Given the description of an element on the screen output the (x, y) to click on. 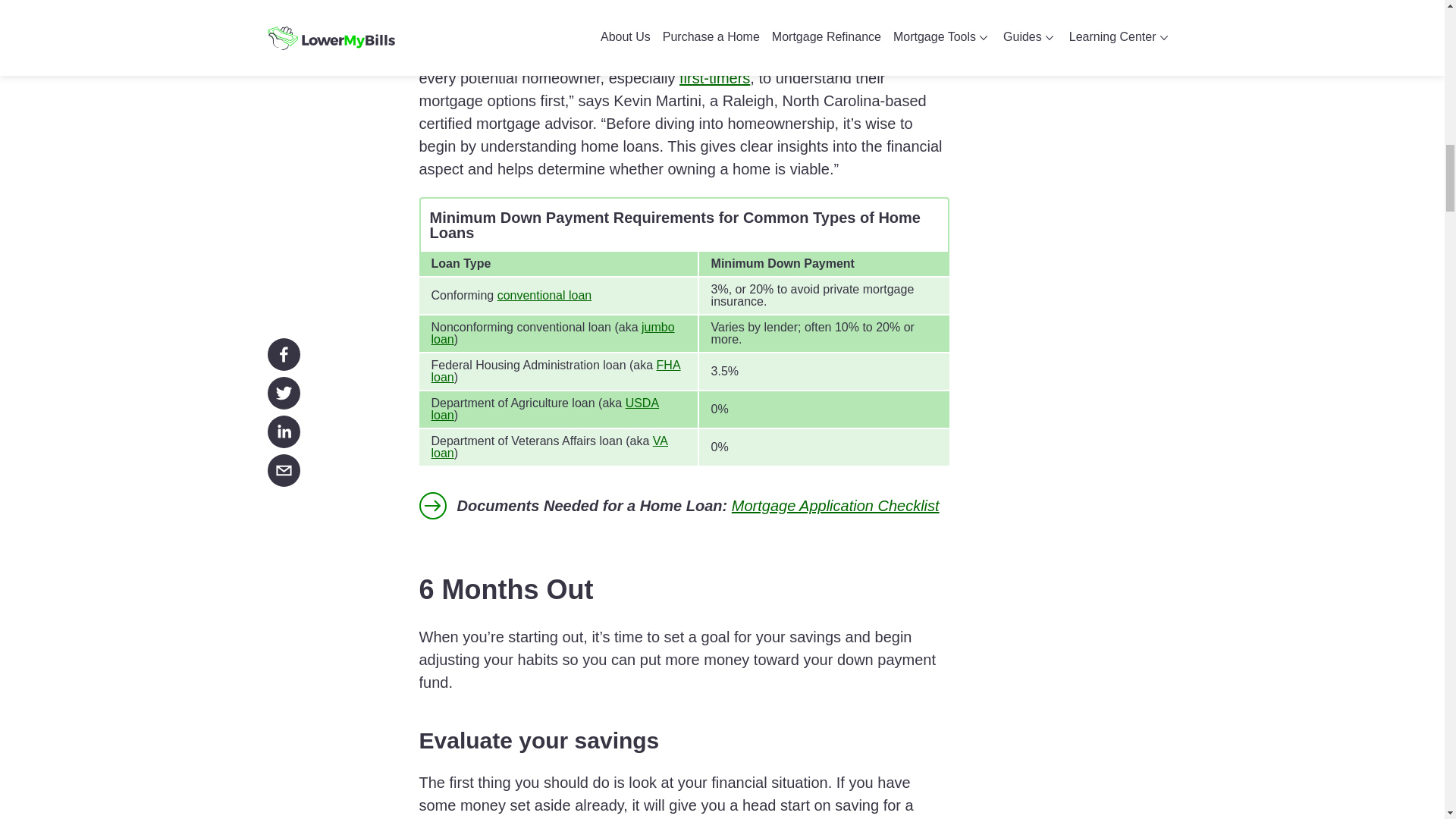
conventional loan (544, 295)
first-timers (714, 77)
different types of homes (672, 4)
jumbo loan (552, 333)
